Given the description of an element on the screen output the (x, y) to click on. 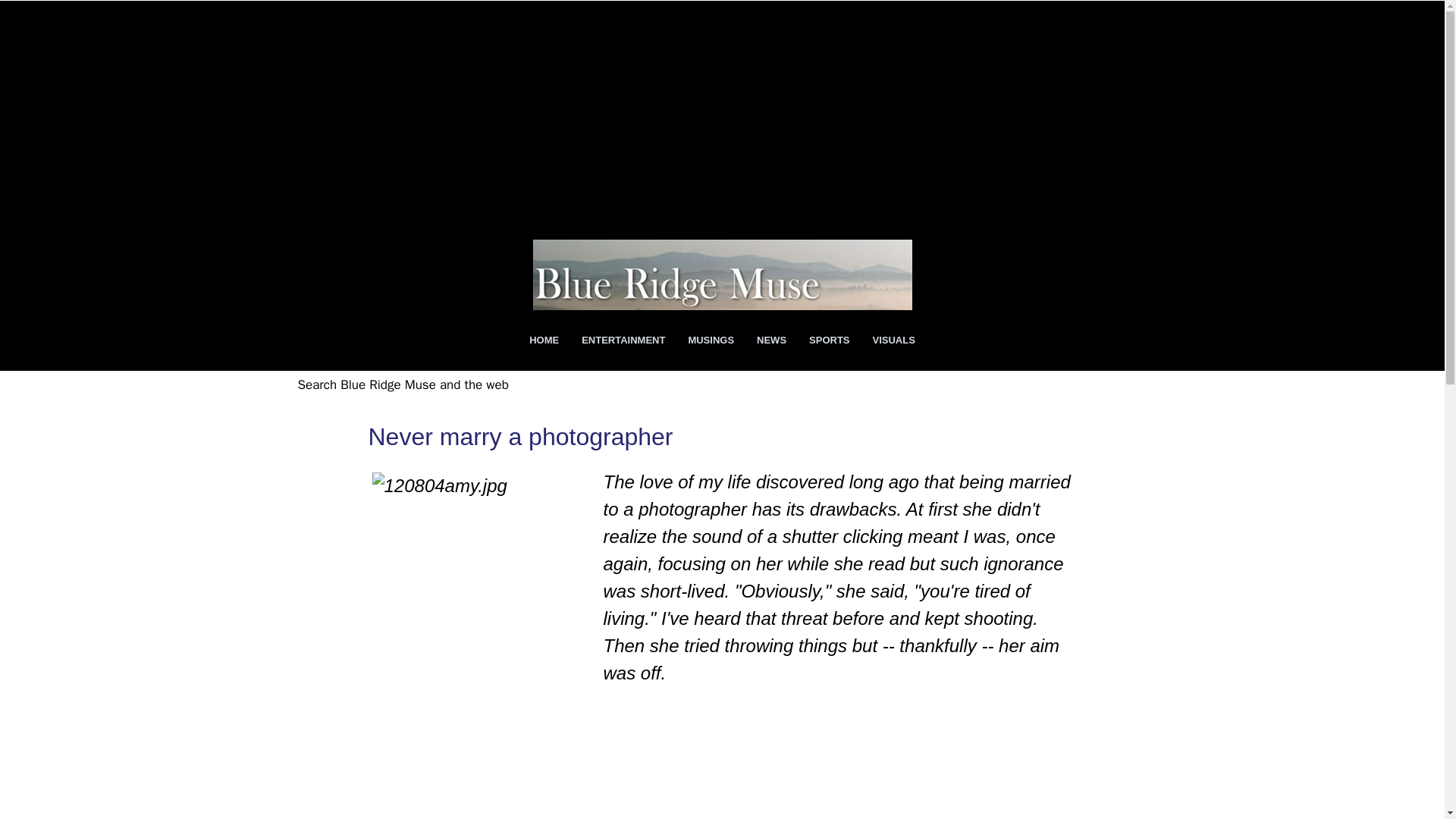
SPORTS (828, 340)
ENTERTAINMENT (623, 340)
VISUALS (893, 340)
MUSINGS (711, 340)
